Given the description of an element on the screen output the (x, y) to click on. 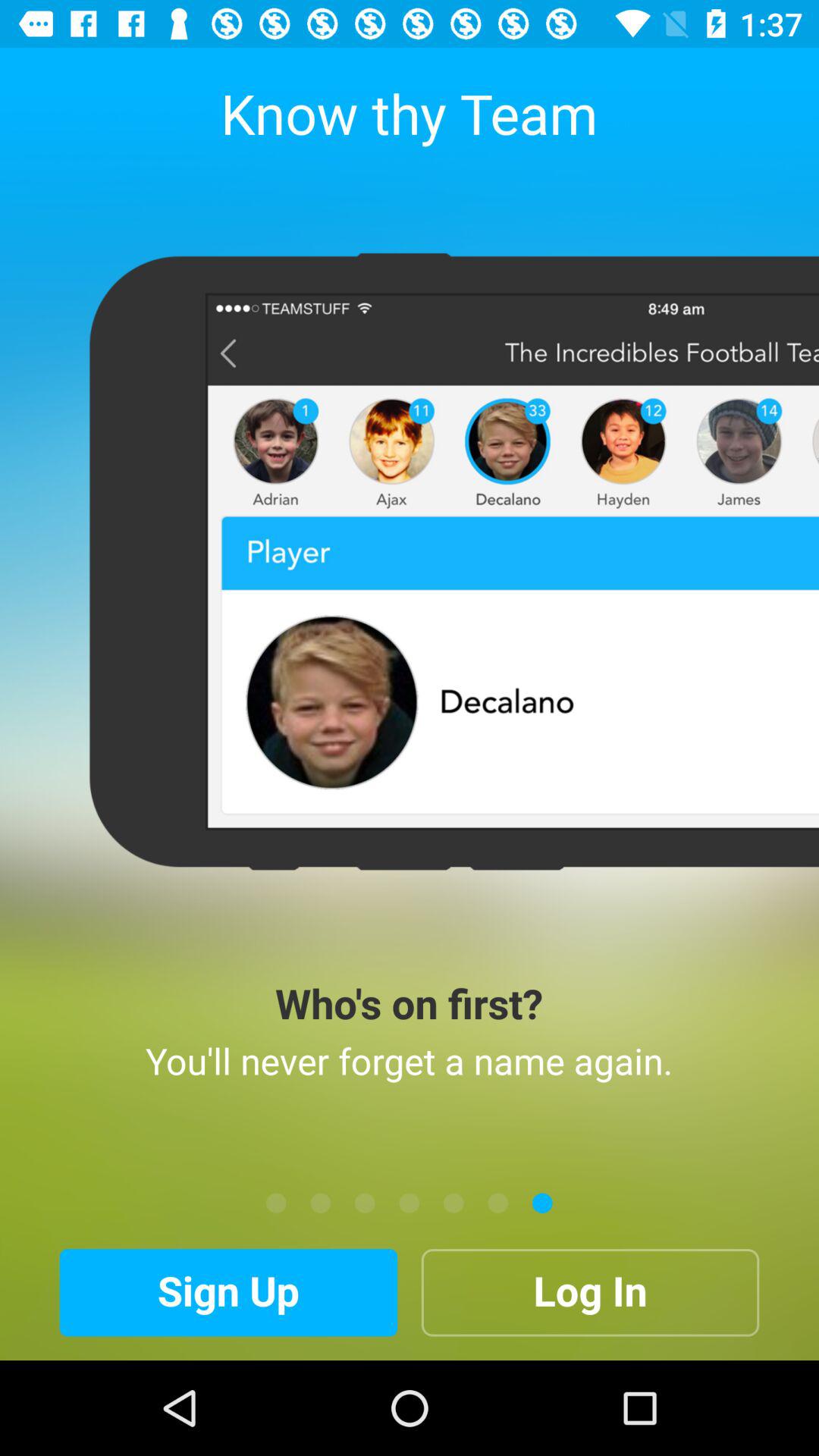
press the icon above log in item (542, 1203)
